Given the description of an element on the screen output the (x, y) to click on. 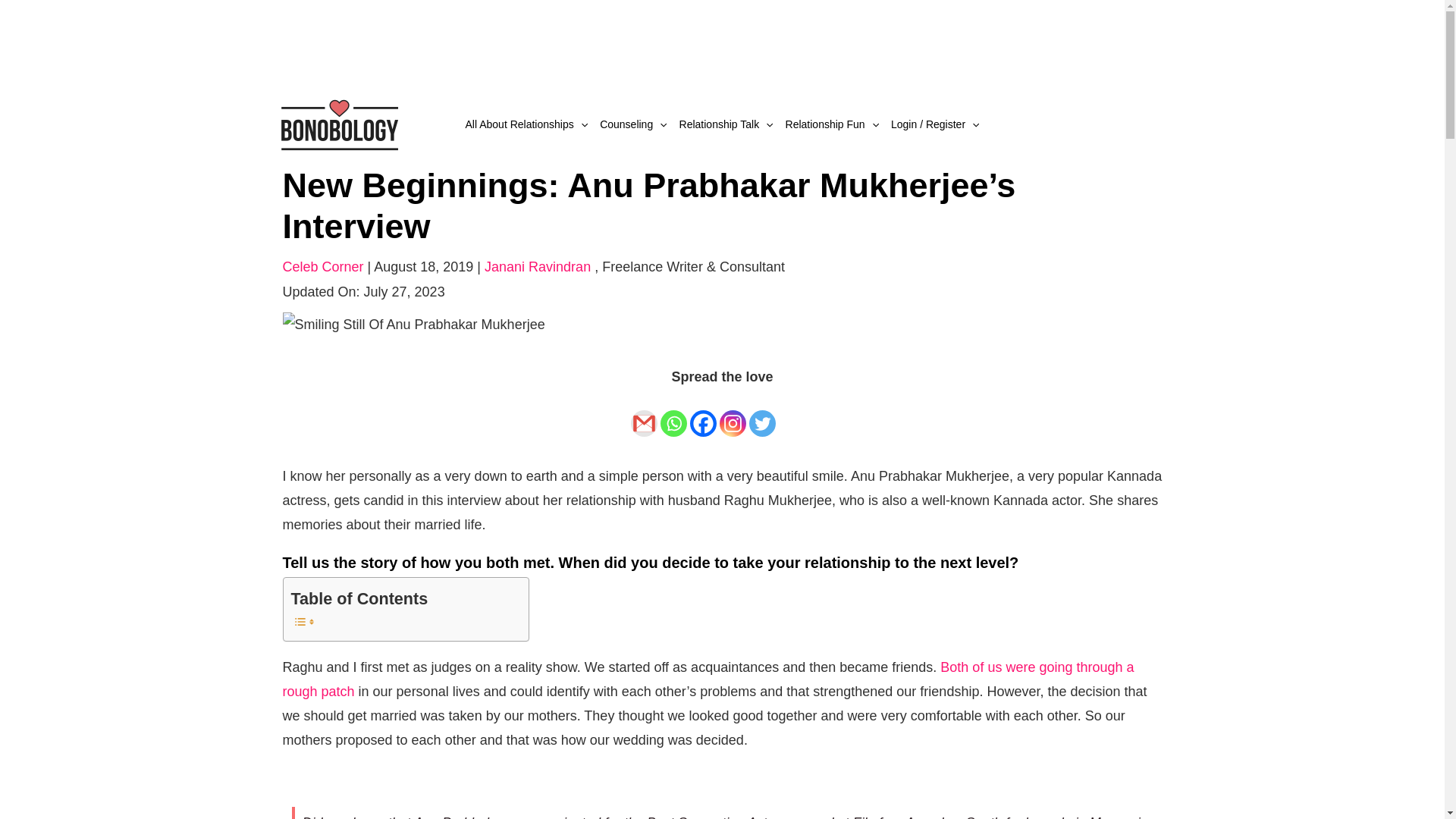
Editor Info (693, 266)
Smiling-Still-Of-Anu-Prabhakar-Mukherjee (413, 323)
All About Relationships (527, 124)
cropped-cropped-Bonobology-2.png (339, 123)
